Given the description of an element on the screen output the (x, y) to click on. 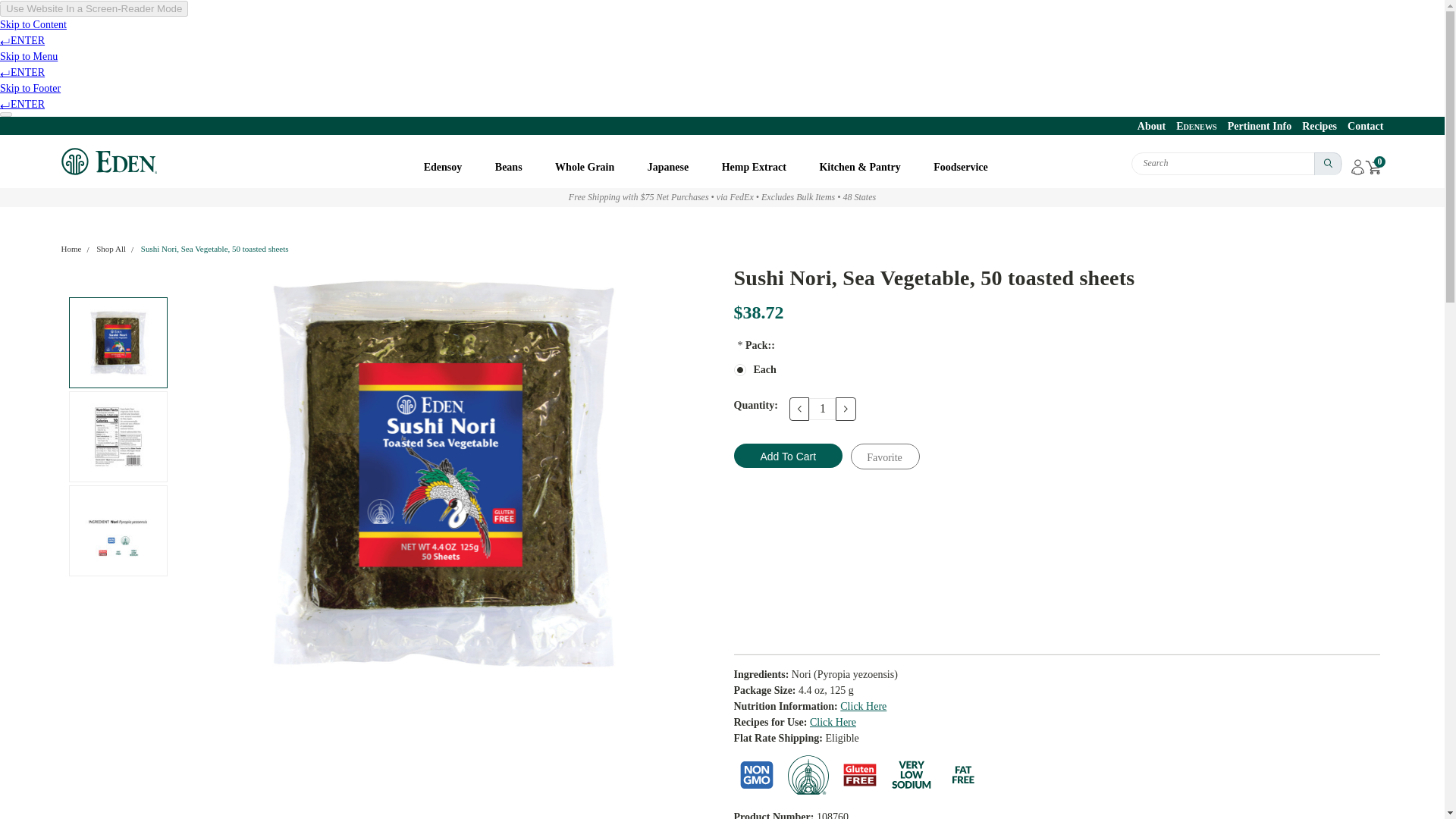
Non GMO (755, 774)
Pertinent Info (1254, 128)
EDENEWS (1191, 128)
1 (822, 409)
Add to Cart (788, 455)
Sushi Nori, Sea Vegetable, 50 toasted sheets (117, 530)
About (1146, 128)
Recipes (1313, 128)
Contact (1359, 128)
Macrobiotic (808, 774)
Very Low Sodium - 35mg or less per serving (911, 774)
Sushi Nori, Sea Vegetable, 50 toasted sheets (117, 342)
Fat Free - less than 0.5 g per serving (962, 774)
